Given the description of an element on the screen output the (x, y) to click on. 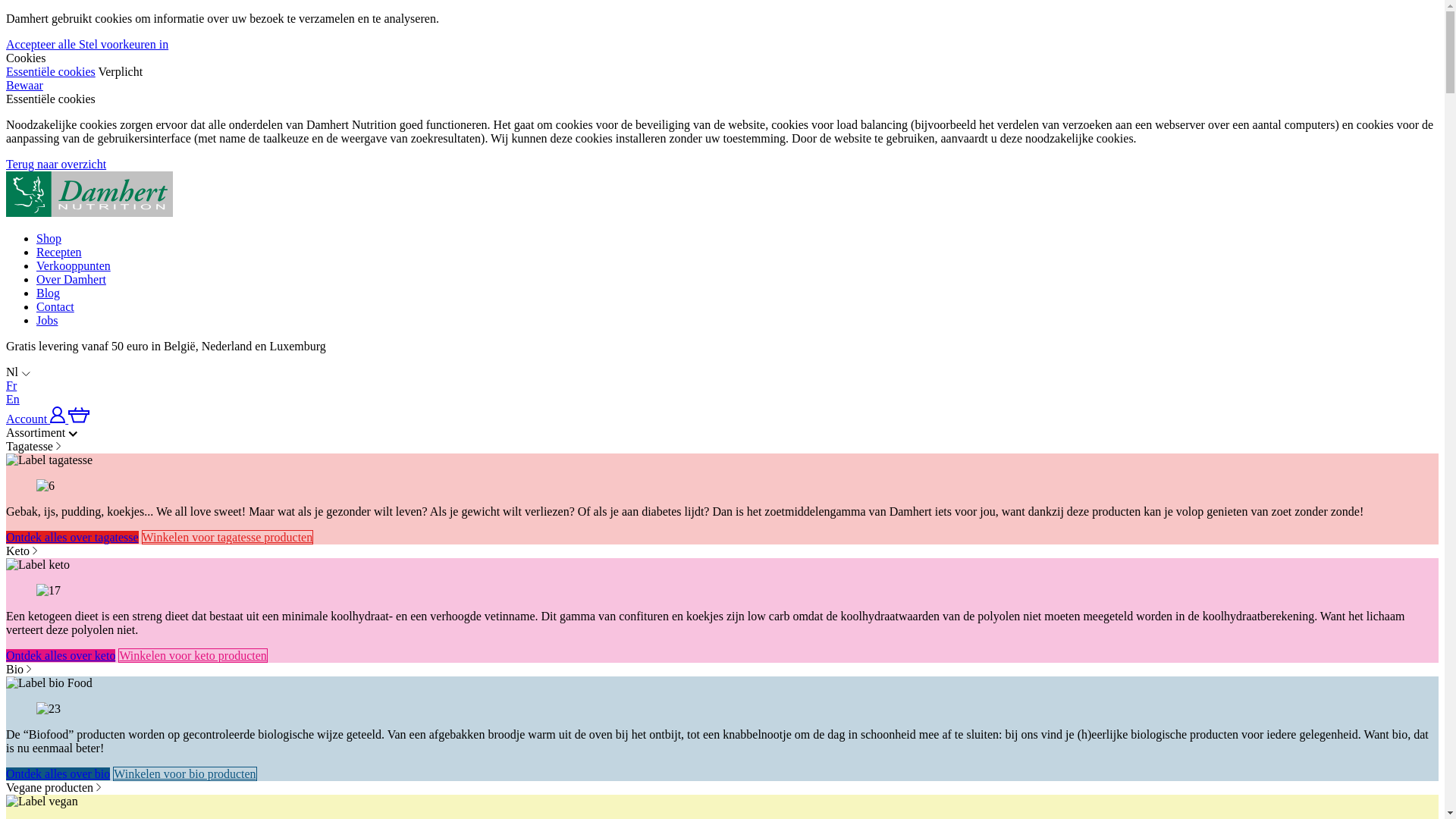
Winkelen voor bio producten Element type: text (184, 773)
Winkelen voor keto producten Element type: text (192, 655)
Verkooppunten Element type: text (73, 265)
Shop Element type: text (48, 238)
Contact Element type: text (55, 306)
Ontdek alles over keto Element type: text (60, 655)
Ontdek alles over bio Element type: text (57, 773)
Accepteer alle Element type: text (42, 43)
Winkelen voor tagatesse producten Element type: text (227, 537)
Blog Element type: text (47, 292)
Fr Element type: text (11, 385)
Terug naar overzicht Element type: text (56, 163)
En Element type: text (12, 398)
Account Element type: text (37, 418)
Recepten Element type: text (58, 251)
Stel voorkeuren in Element type: text (123, 43)
Ontdek alles over tagatesse Element type: text (72, 536)
Over Damhert Element type: text (71, 279)
Bewaar Element type: text (24, 84)
Jobs Element type: text (46, 319)
